Given the description of an element on the screen output the (x, y) to click on. 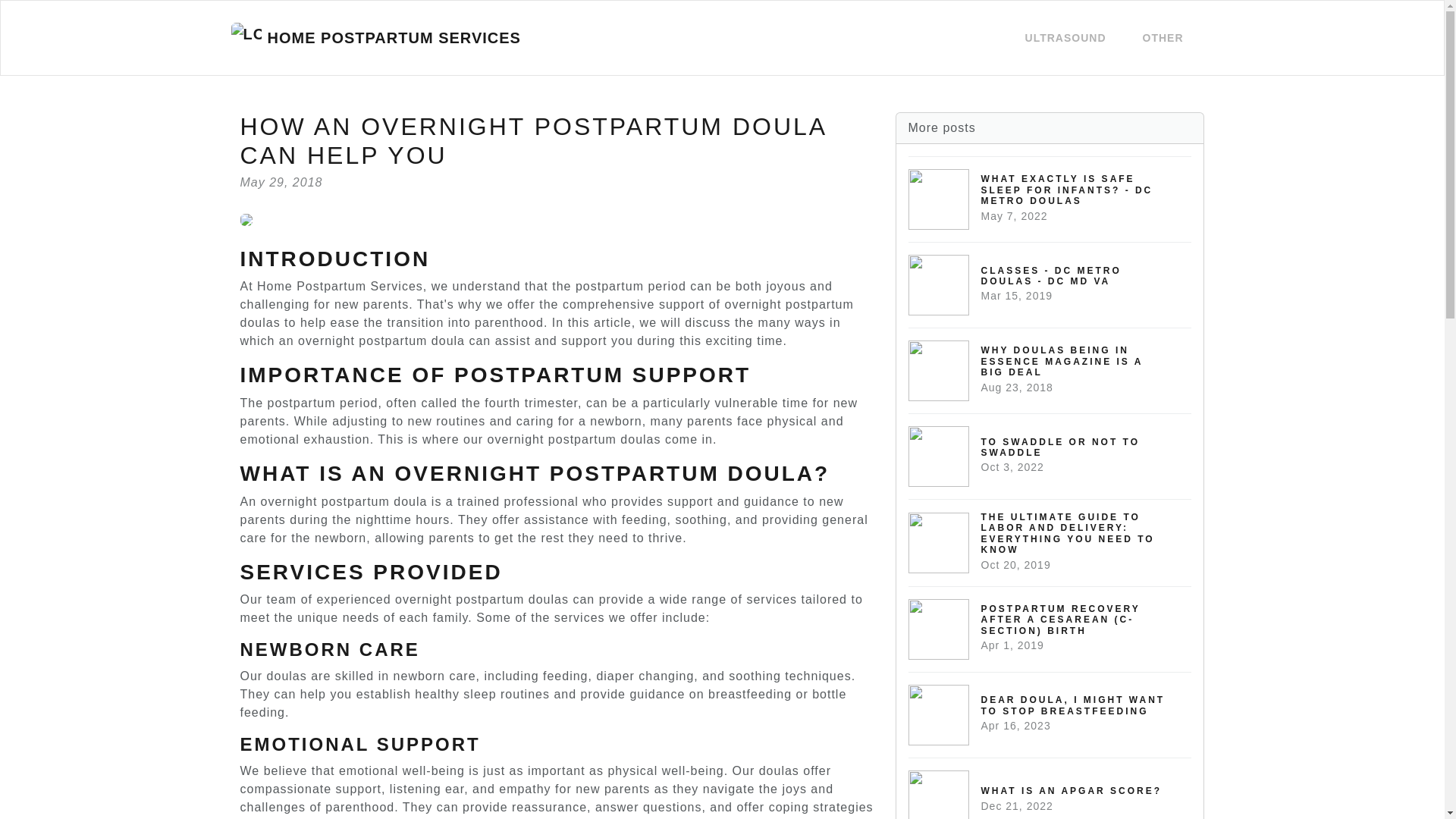
OTHER (1050, 455)
HOME POSTPARTUM SERVICES (1162, 37)
ULTRASOUND (374, 37)
